Given the description of an element on the screen output the (x, y) to click on. 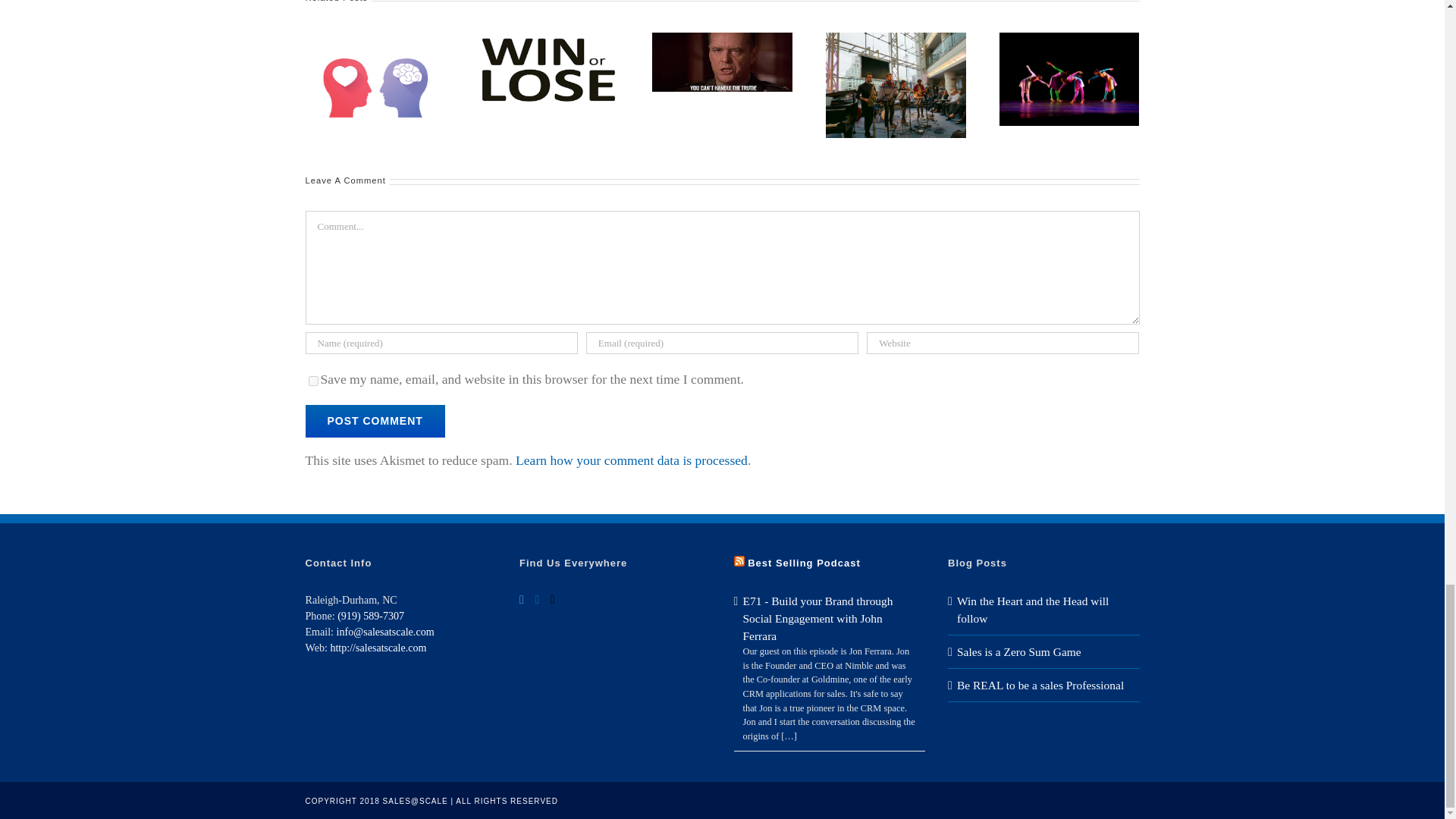
yes (312, 380)
Post Comment (374, 420)
